Given the description of an element on the screen output the (x, y) to click on. 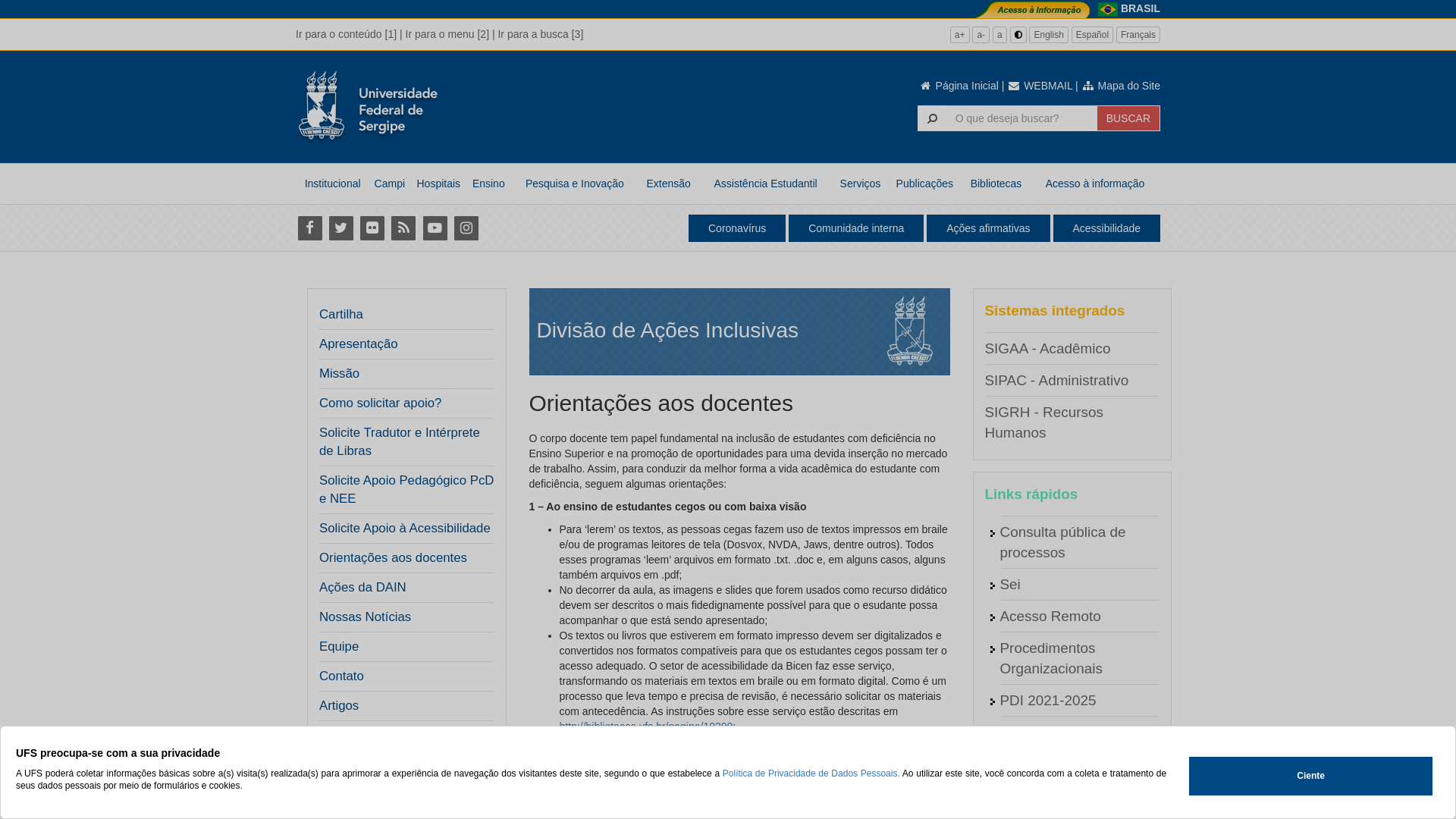
a+ Element type: text (959, 34)
Institucional Element type: text (332, 183)
Hospitais Element type: text (438, 183)
Mapa do Site Element type: text (1120, 85)
English Element type: text (1048, 34)
Contato Element type: text (341, 676)
Equipe Element type: text (338, 646)
BUSCAR Element type: text (1128, 118)
Agenda do Vice-Reitor Element type: text (1071, 763)
Artigos Element type: text (338, 705)
a- Element type: text (980, 34)
Acessibilidade Element type: text (1106, 227)
Ensino Element type: text (488, 183)
BRASIL Element type: text (1140, 8)
Procedimentos Organizacionais Element type: text (1050, 658)
Bibliotecas Element type: text (995, 183)
Flickr Element type: text (371, 227)
Agenda do Reitor Element type: text (1054, 732)
SIGRH - Recursos Humanos Element type: text (1043, 422)
Cartilha Element type: text (341, 314)
Campi Element type: text (389, 183)
WEBMAIL Element type: text (1039, 85)
http://bibliotecas.ufs.br/pagina/10200 Element type: text (646, 726)
Ir para o menu [2] Element type: text (447, 34)
SIPAC - Administrativo Element type: text (1056, 380)
Instagram Element type: text (465, 227)
Youtube Element type: text (434, 227)
Comunidade interna Element type: text (855, 227)
Como solicitar apoio? Element type: text (380, 403)
Facebook Element type: text (309, 227)
Telefones Element type: text (1029, 795)
a Element type: text (999, 34)
Acesso Remoto Element type: text (1049, 616)
PDI 2021-2025 Element type: text (1047, 700)
Twitter Element type: text (340, 227)
RSS Element type: text (403, 227)
Sei Element type: text (1009, 584)
Ir para a busca [3] Element type: text (540, 34)
